Given the description of an element on the screen output the (x, y) to click on. 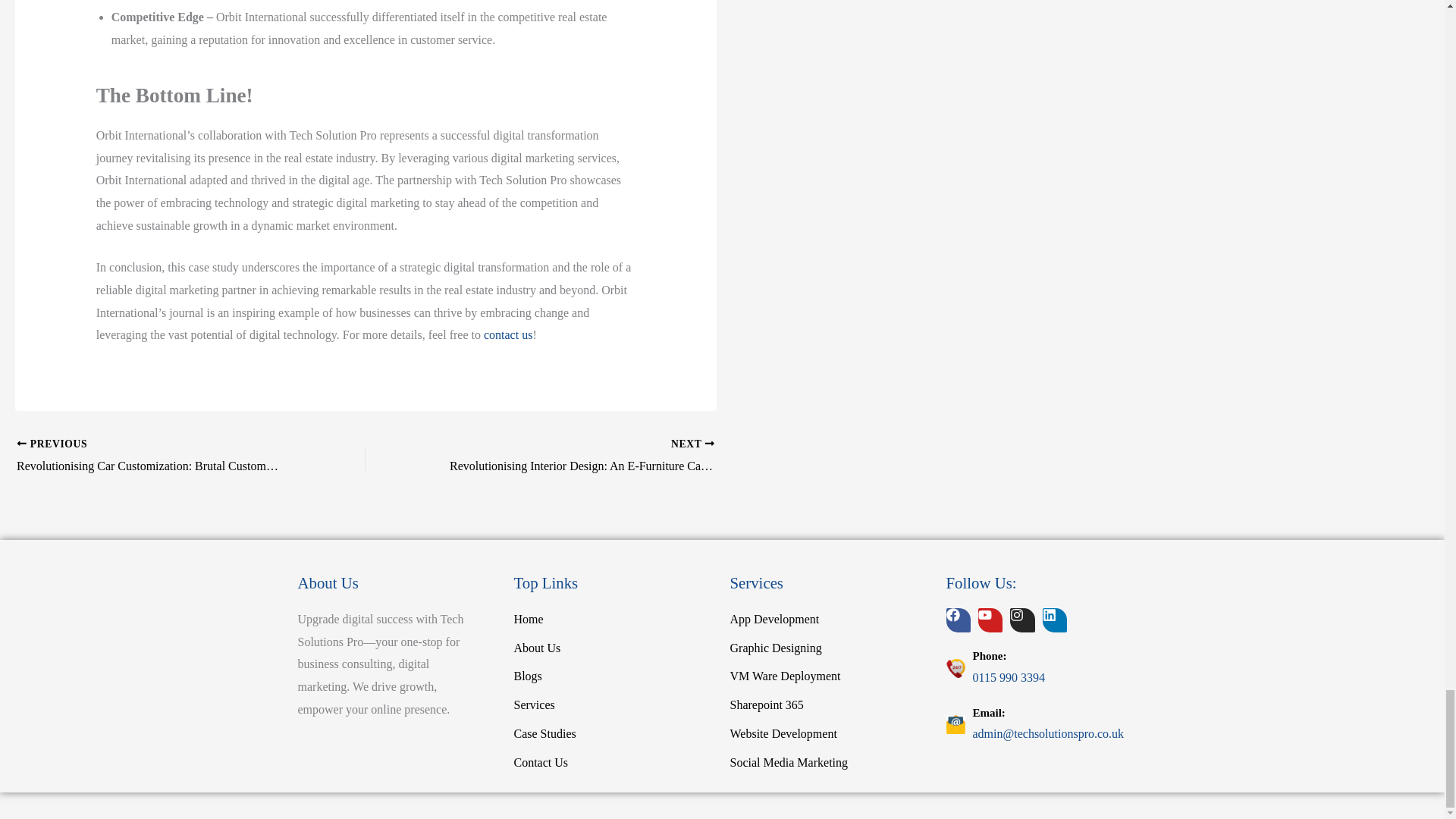
Revolutionising Interior Design: An E-Furniture Case Study (573, 455)
Revolutionising Car Customization: Brutal Customz Case Study (156, 455)
